Given the description of an element on the screen output the (x, y) to click on. 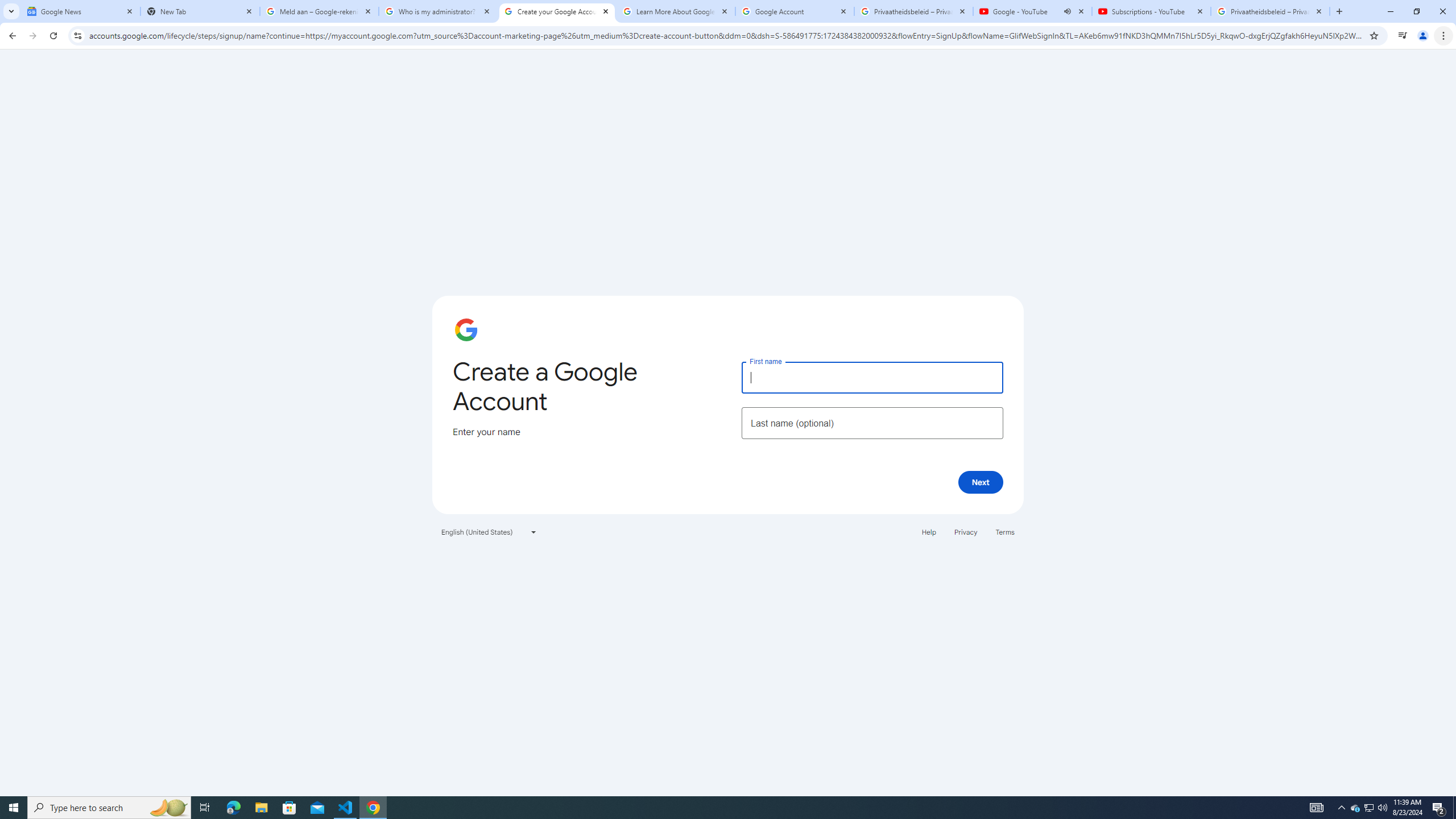
Subscriptions - YouTube (1150, 11)
English (United States) (489, 531)
